Given the description of an element on the screen output the (x, y) to click on. 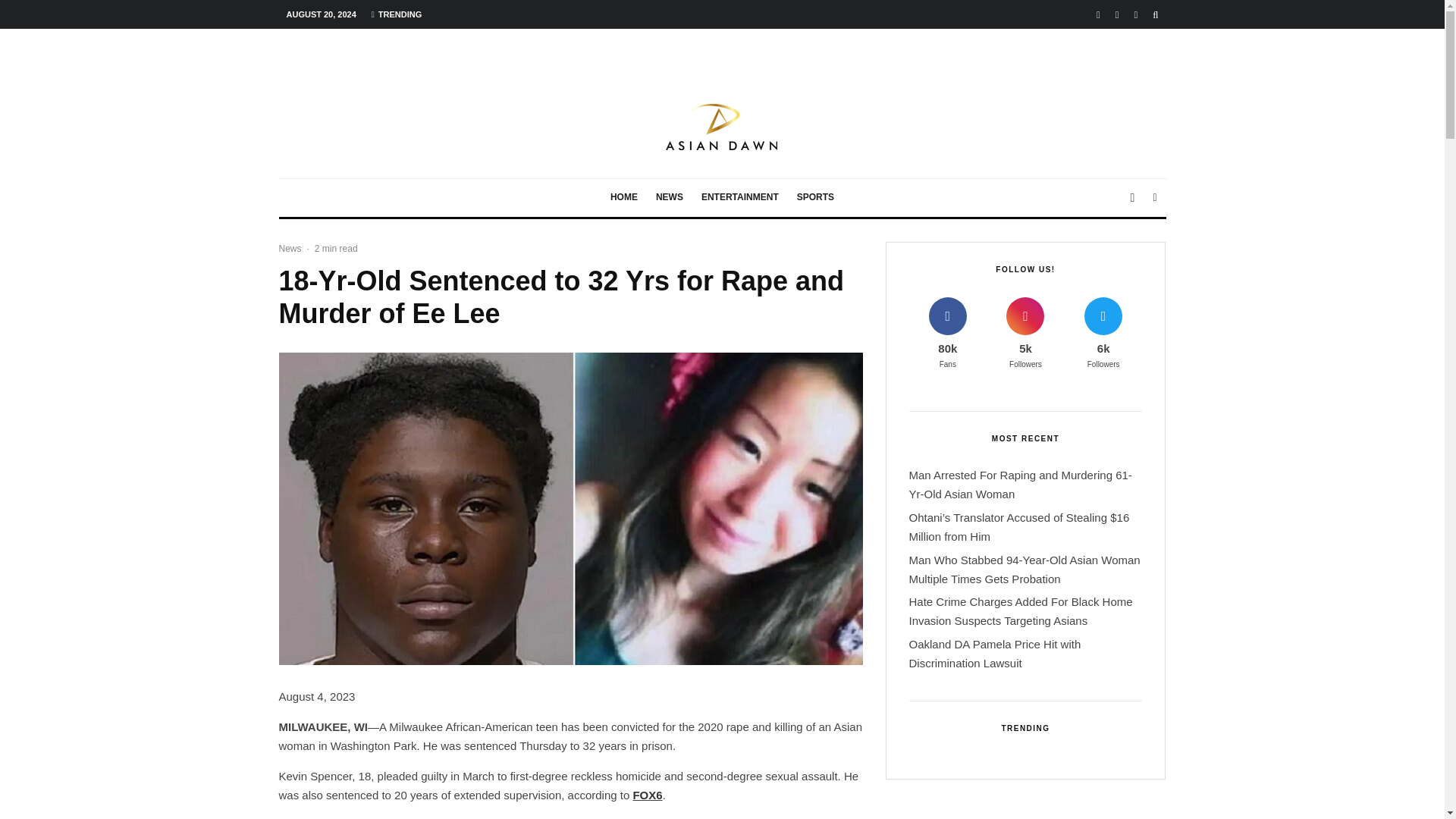
NEWS (669, 198)
SPORTS (815, 198)
ENTERTAINMENT (740, 198)
HOME (623, 198)
TRENDING (396, 14)
